Given the description of an element on the screen output the (x, y) to click on. 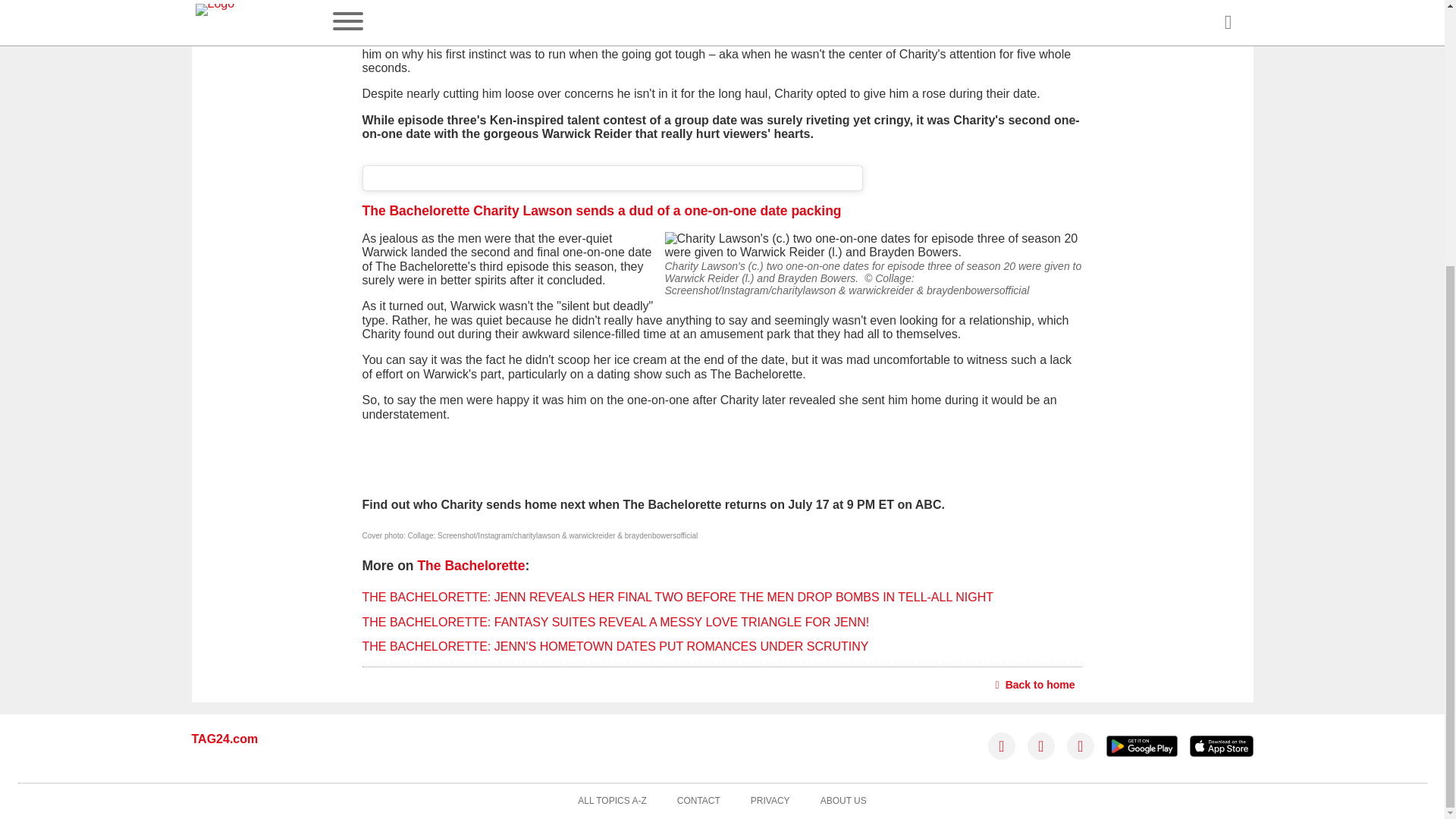
PRIVACY (770, 801)
ABOUT US (843, 801)
ALL TOPICS A-Z (612, 801)
CONTACT (698, 801)
Back to home (1035, 684)
The Bachelorette (470, 565)
